Given the description of an element on the screen output the (x, y) to click on. 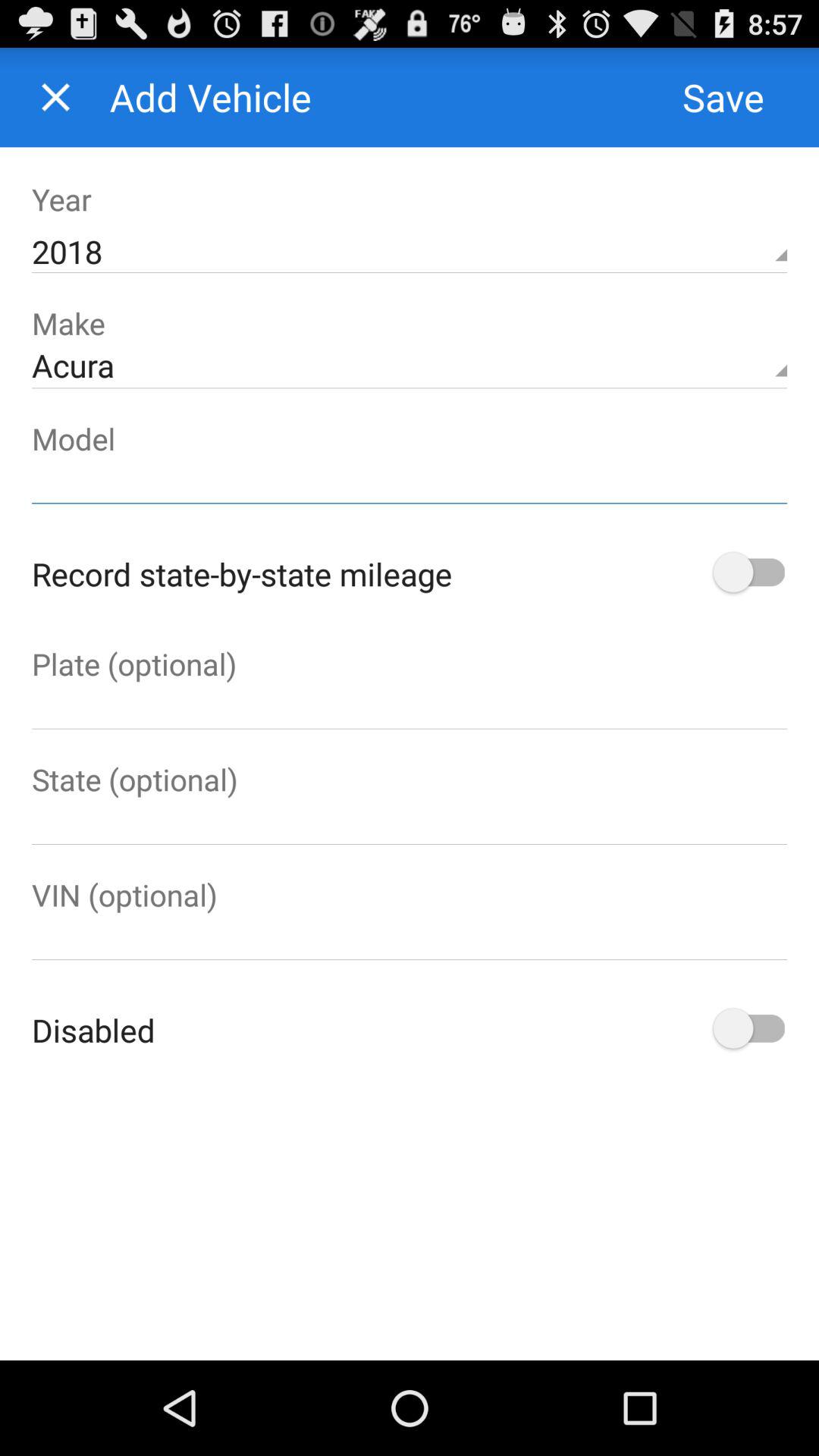
toggle record state-by-state mileage option (747, 573)
